Given the description of an element on the screen output the (x, y) to click on. 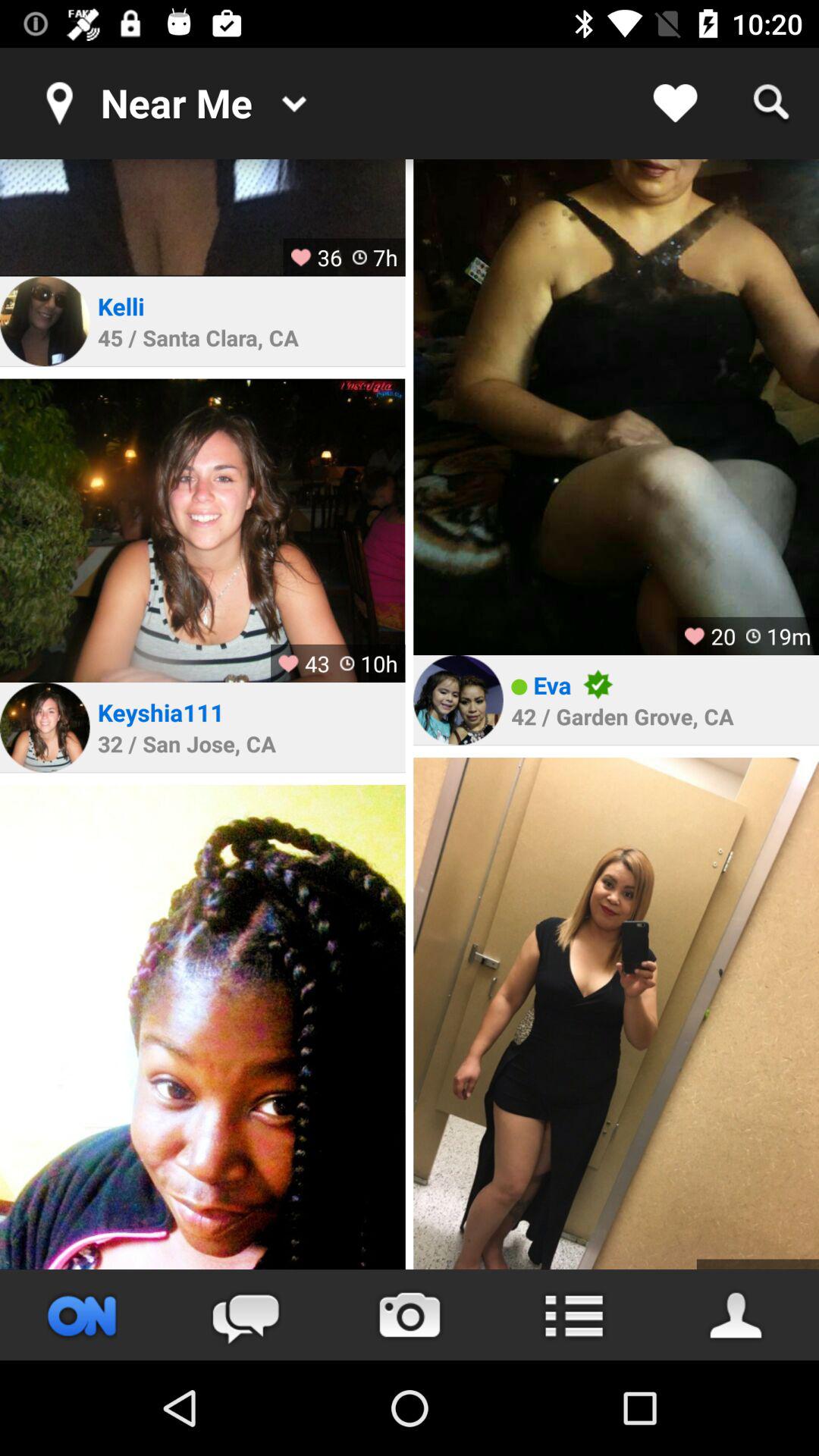
enlarge selected image (202, 530)
